Given the description of an element on the screen output the (x, y) to click on. 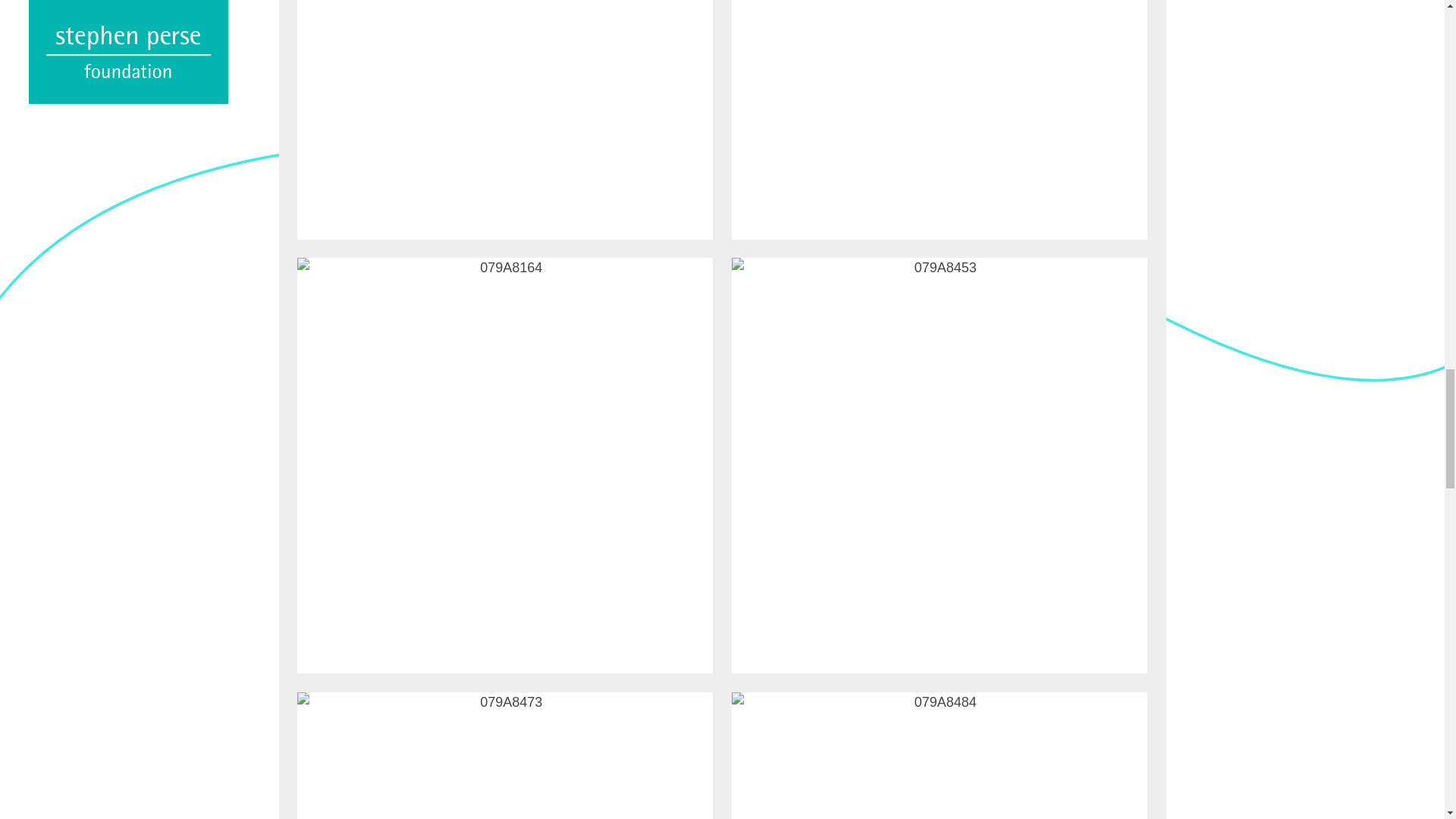
079A8186 (939, 119)
079A8200 (505, 119)
